Given the description of an element on the screen output the (x, y) to click on. 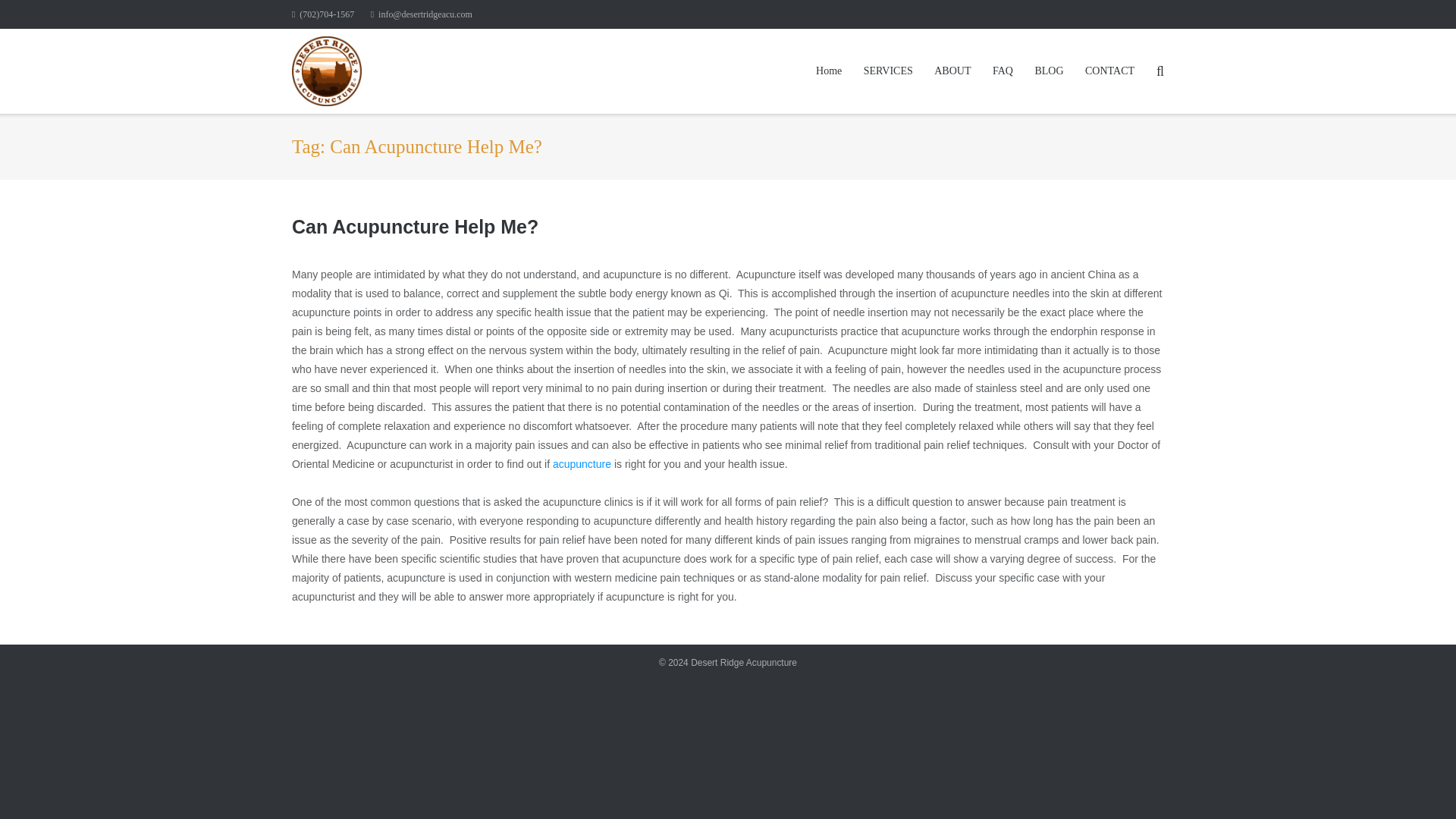
Desert Ridge Acupuncture (743, 662)
acupuncture (582, 463)
Can Acupuncture Help Me? (415, 226)
